Given the description of an element on the screen output the (x, y) to click on. 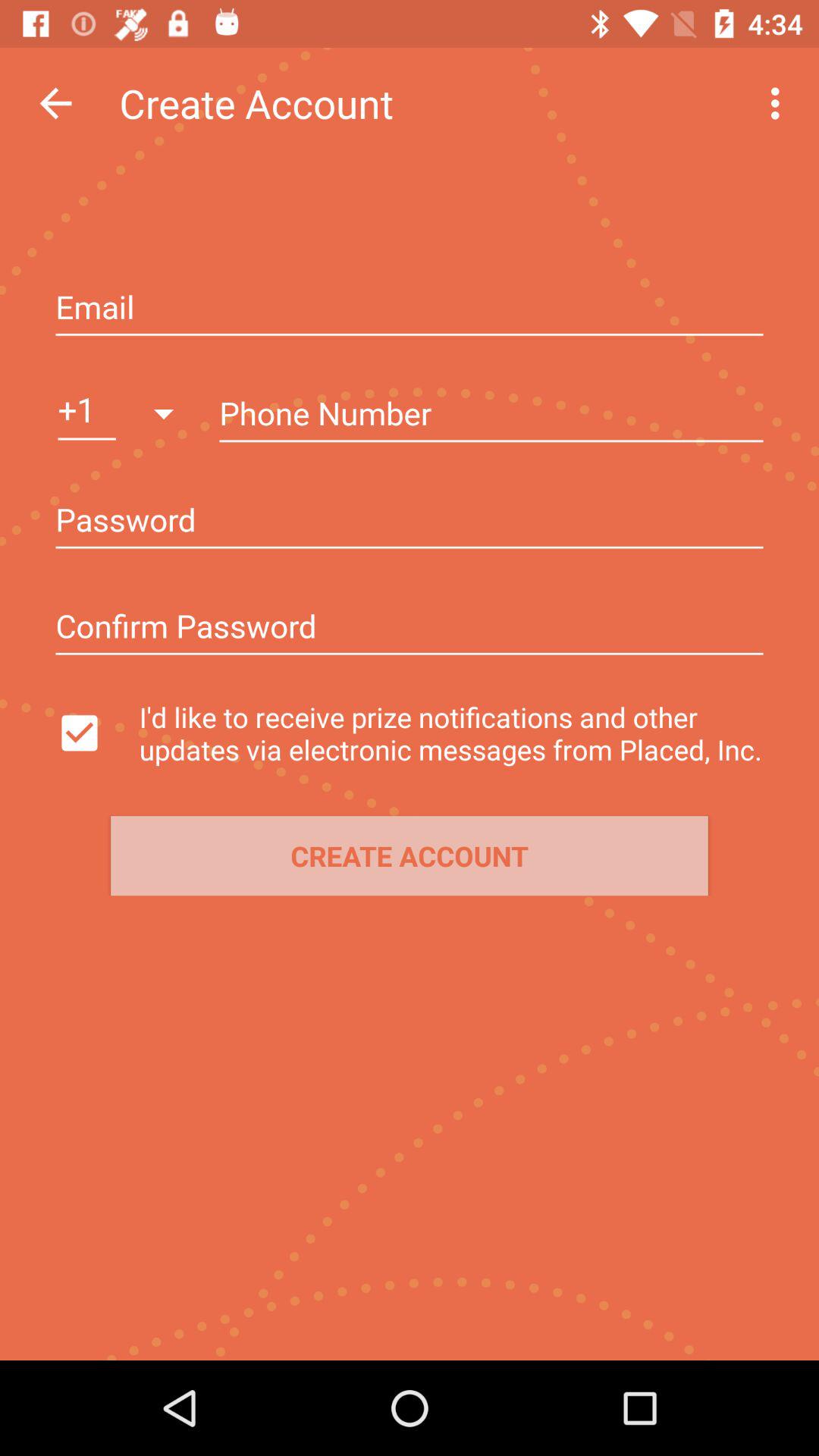
mark for continue (93, 732)
